Given the description of an element on the screen output the (x, y) to click on. 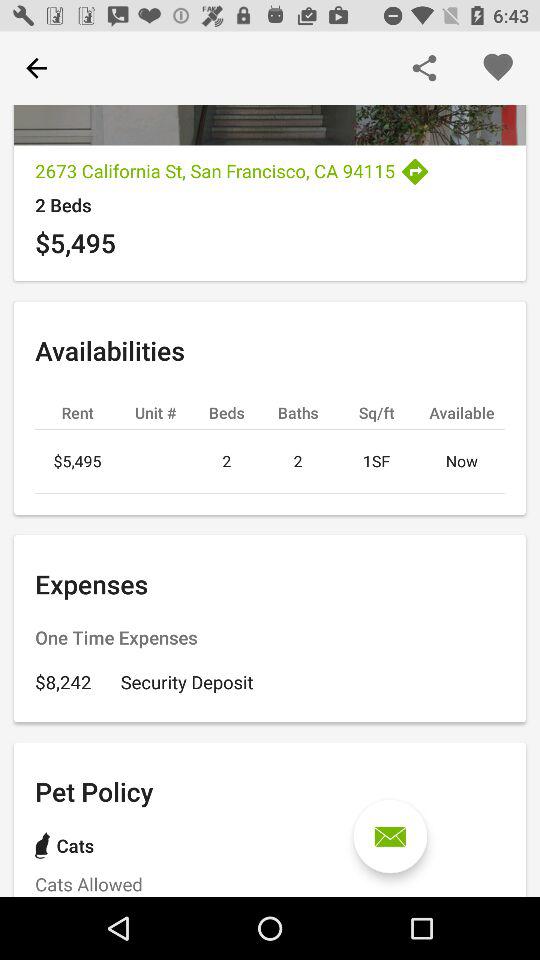
share on social media (424, 68)
